Given the description of an element on the screen output the (x, y) to click on. 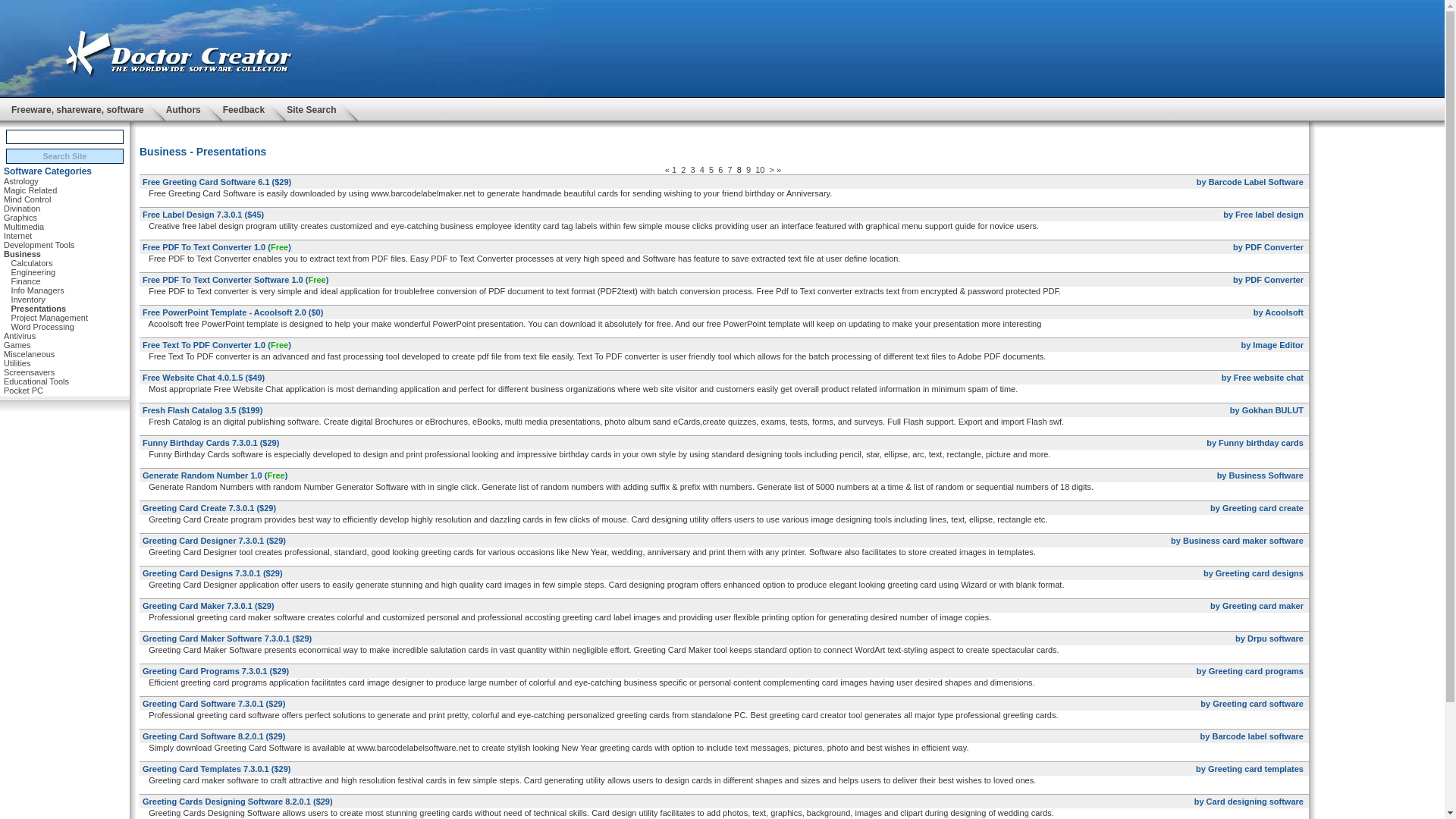
Divination (22, 208)
Multimedia (23, 226)
Freeware, shareware, software (77, 109)
Finance (25, 280)
Internet (18, 235)
Pocket PC (23, 390)
Mind Control (27, 199)
Site Search (311, 109)
Business (22, 253)
Advertisement (724, 132)
Search Site (64, 155)
Project Management (48, 317)
Engineering (32, 271)
Graphics (20, 217)
Info Managers (37, 290)
